Given the description of an element on the screen output the (x, y) to click on. 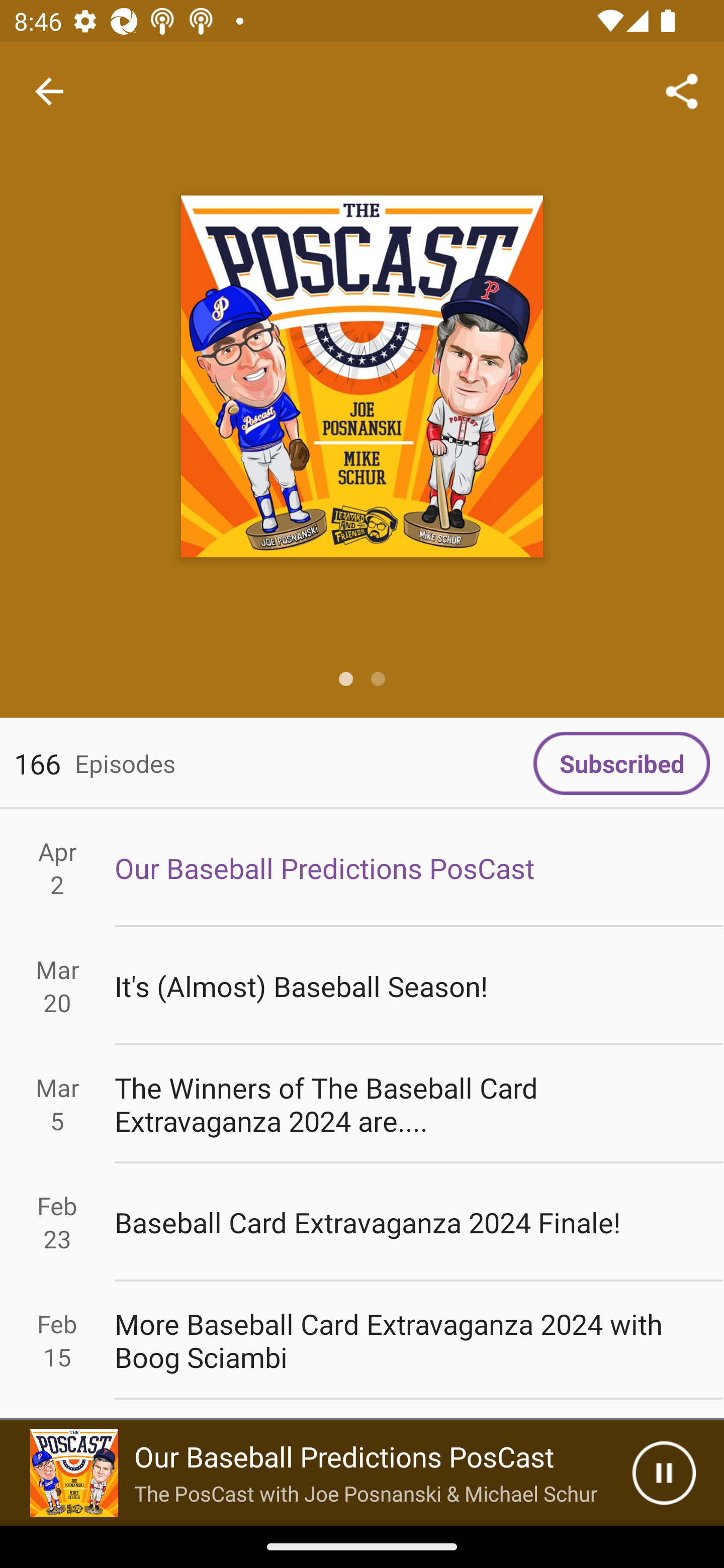
Navigate up (49, 91)
Share... (681, 90)
Subscribed (621, 763)
Apr 2 Our Baseball Predictions PosCast (362, 867)
Mar 20 It's (Almost) Baseball Season! (362, 985)
Feb 23 Baseball Card Extravaganza 2024 Finale! (362, 1222)
Pause (663, 1472)
